Given the description of an element on the screen output the (x, y) to click on. 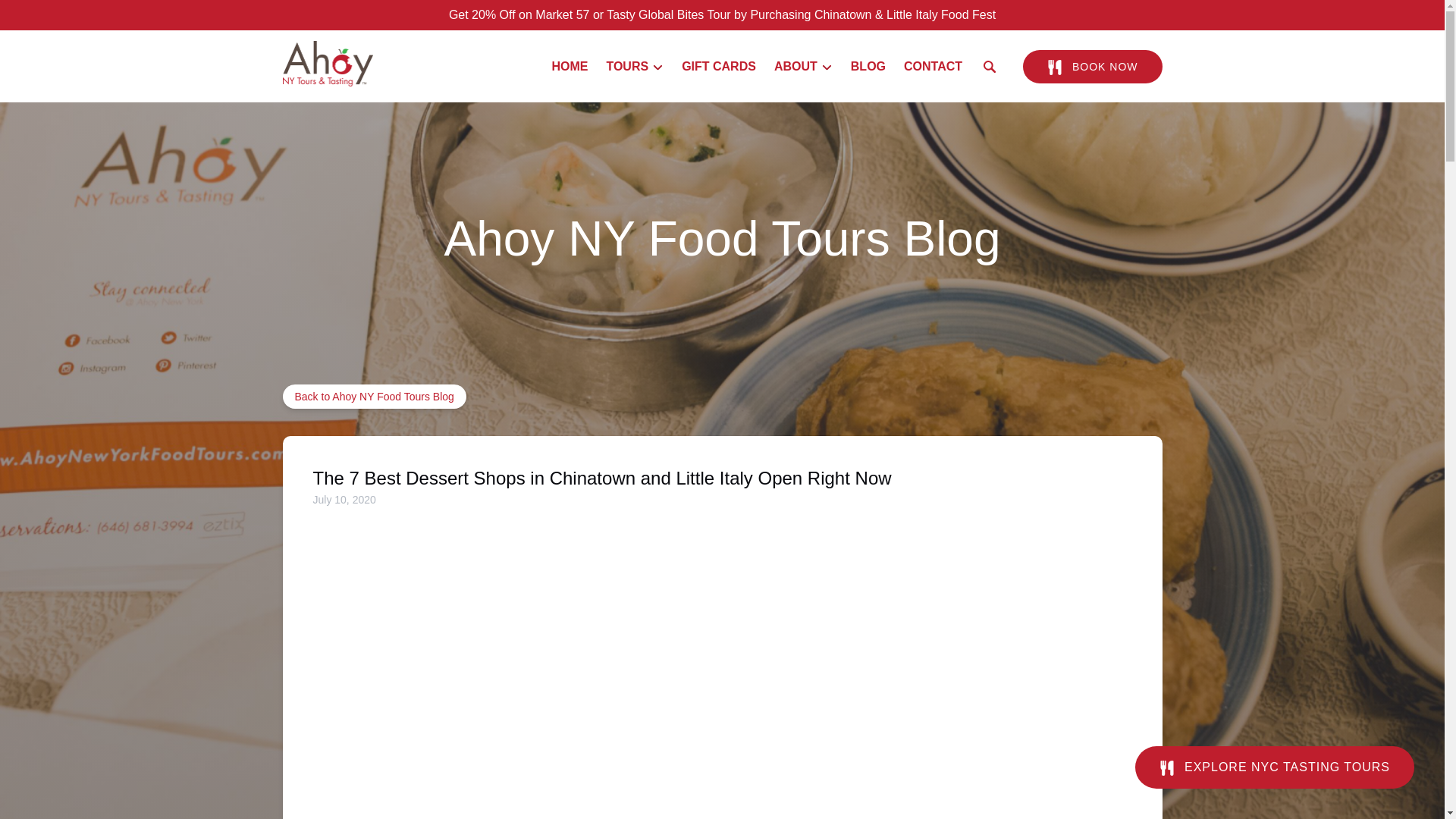
FOOD EXPLORE NYC TASTING TOURS (1274, 754)
TOURS (634, 66)
Skip to primary navigation (77, 16)
FOOD (1054, 67)
GIFT CARDS (718, 66)
BLOG (868, 66)
CONTACT (933, 66)
Open About Menu (807, 62)
Back to Ahoy NY Food Tours Blog (373, 396)
FOOD (1166, 767)
